Given the description of an element on the screen output the (x, y) to click on. 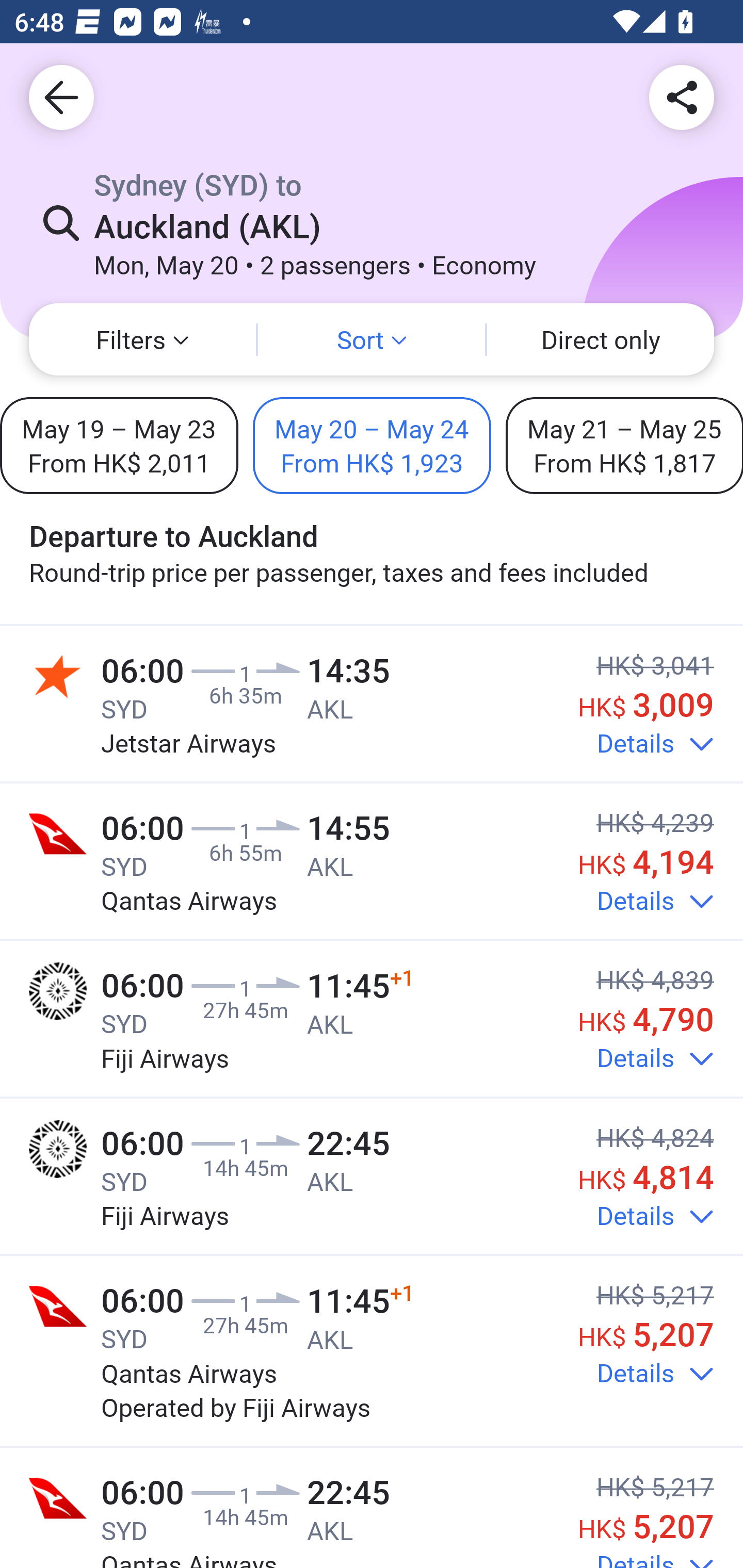
Filters (141, 339)
Sort (371, 339)
Direct only (600, 339)
May 19 – May 23 From HK$ 2,011 (119, 444)
May 20 – May 24 From HK$ 1,923 (371, 444)
May 21 – May 25 From HK$ 1,817 (624, 444)
